Given the description of an element on the screen output the (x, y) to click on. 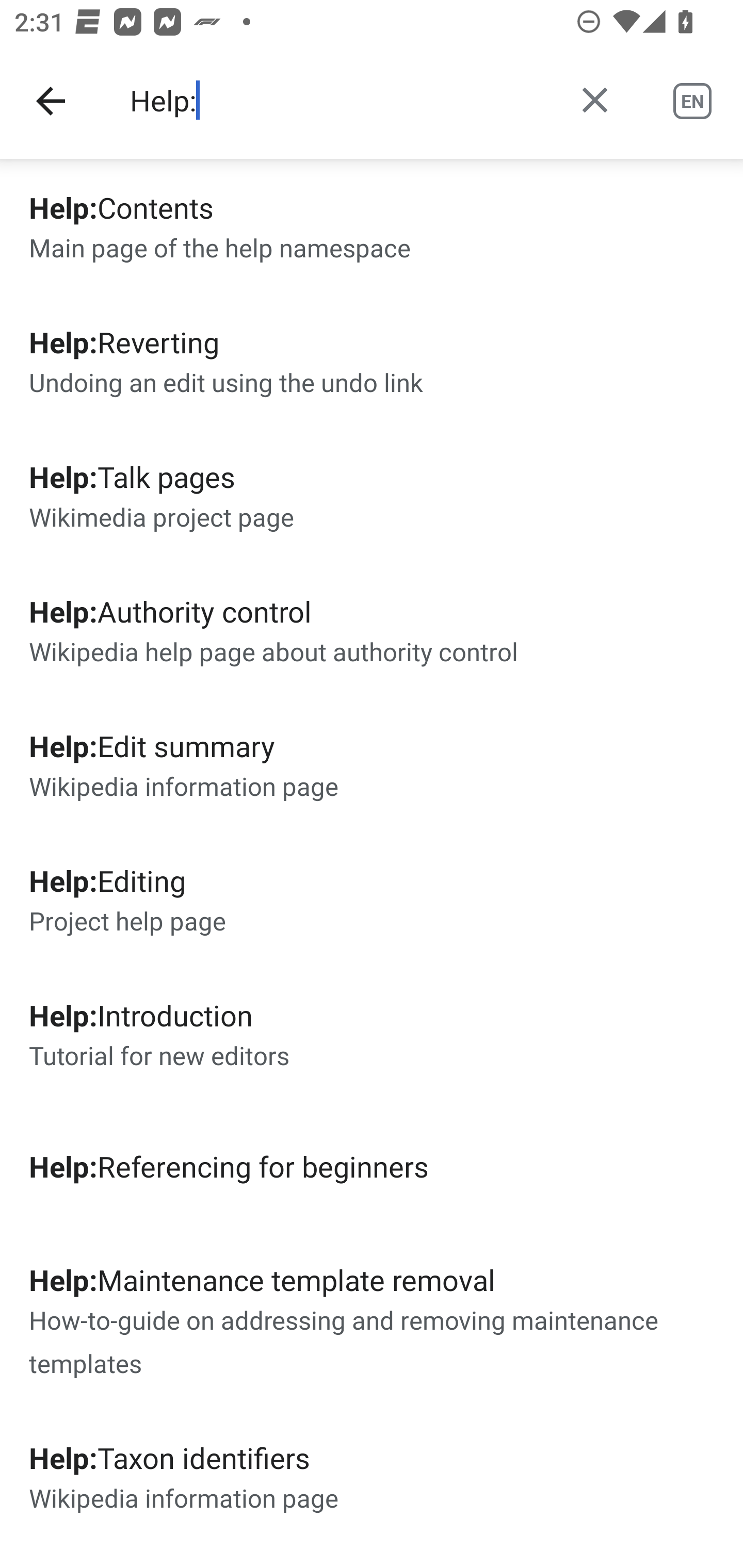
Navigate up (50, 101)
Help: (336, 100)
Clear query (594, 99)
Wikipedia languages EN (692, 100)
Help:Contents Main page of the help namespace (371, 225)
Help:Reverting Undoing an edit using the undo link (371, 360)
Help:Talk pages Wikimedia project page (371, 495)
Help:Edit summary Wikipedia information page (371, 764)
Help:Editing Project help page (371, 898)
Help:Introduction Tutorial for new editors (371, 1032)
Help:Referencing for beginners (371, 1165)
Help:Taxon identifiers Wikipedia information page (371, 1476)
